Given the description of an element on the screen output the (x, y) to click on. 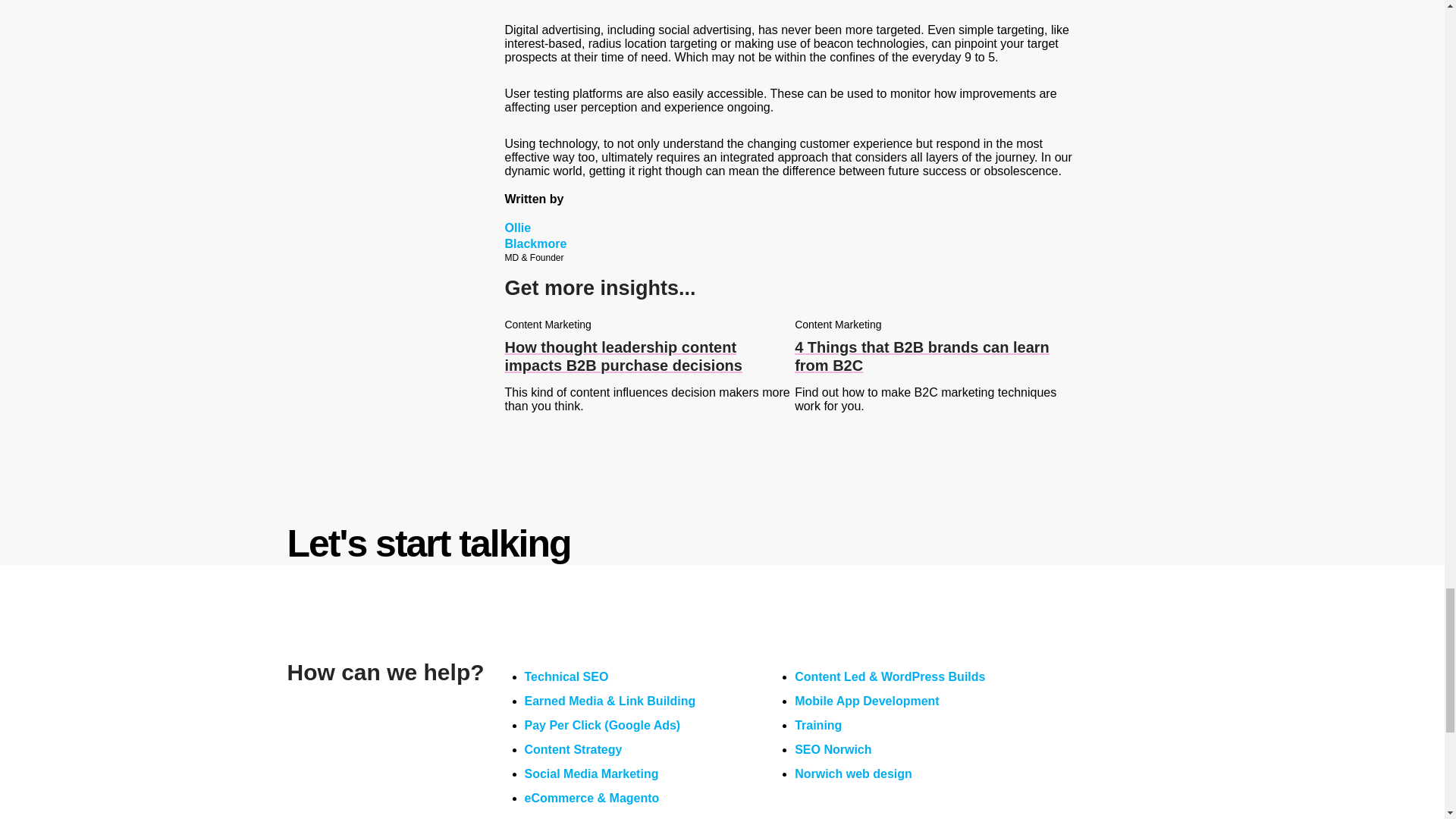
Training (817, 725)
Social Media Marketing (591, 773)
4 Things that B2B brands can learn from B2C (939, 356)
Norwich web design (853, 773)
Technical SEO (566, 676)
SEO Norwich (832, 748)
Mobile App Development (866, 700)
Content Strategy (573, 748)
